Given the description of an element on the screen output the (x, y) to click on. 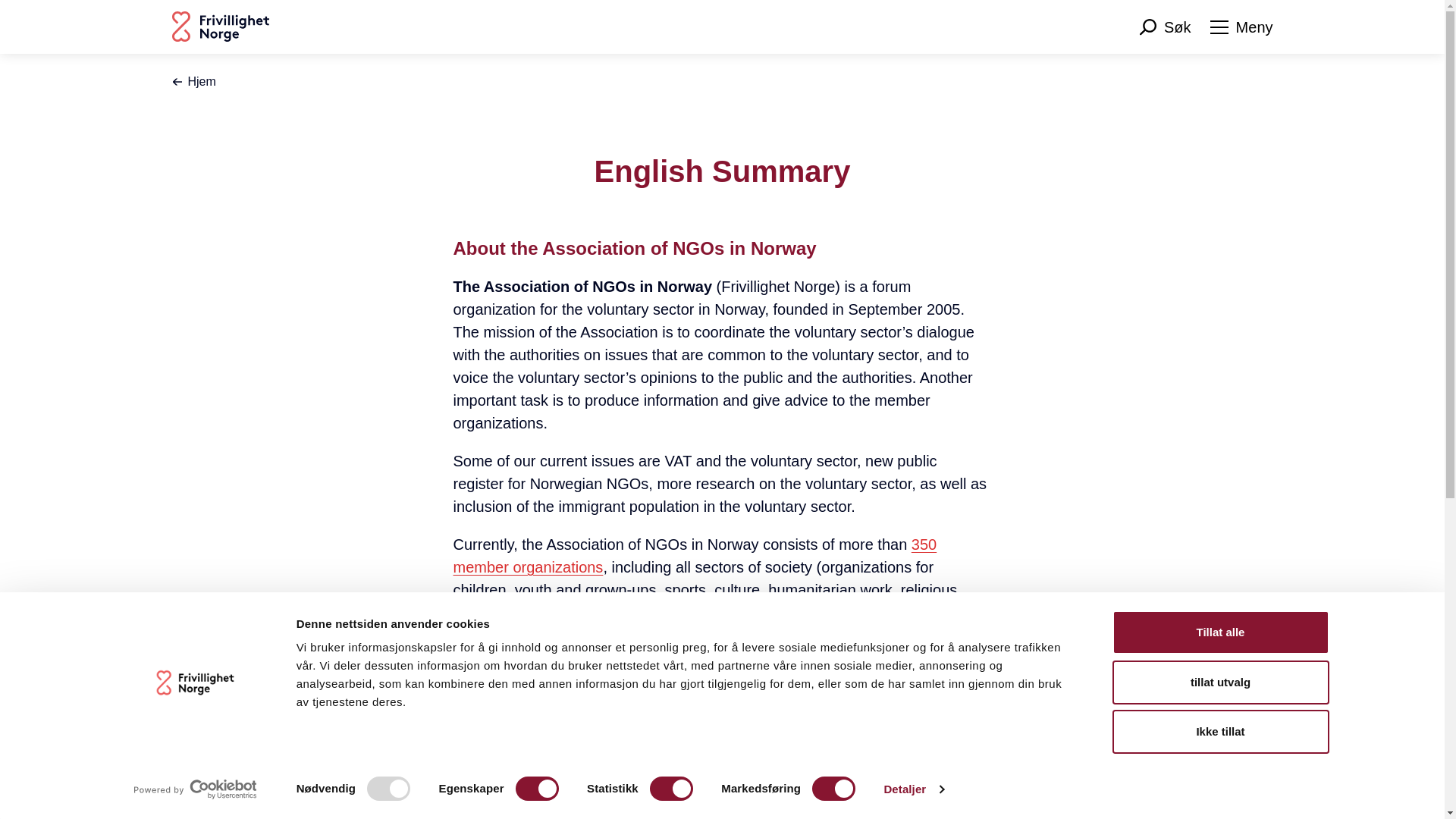
Detaljer (913, 789)
Ikke tillat (1219, 731)
tillat utvalg (1219, 681)
